Given the description of an element on the screen output the (x, y) to click on. 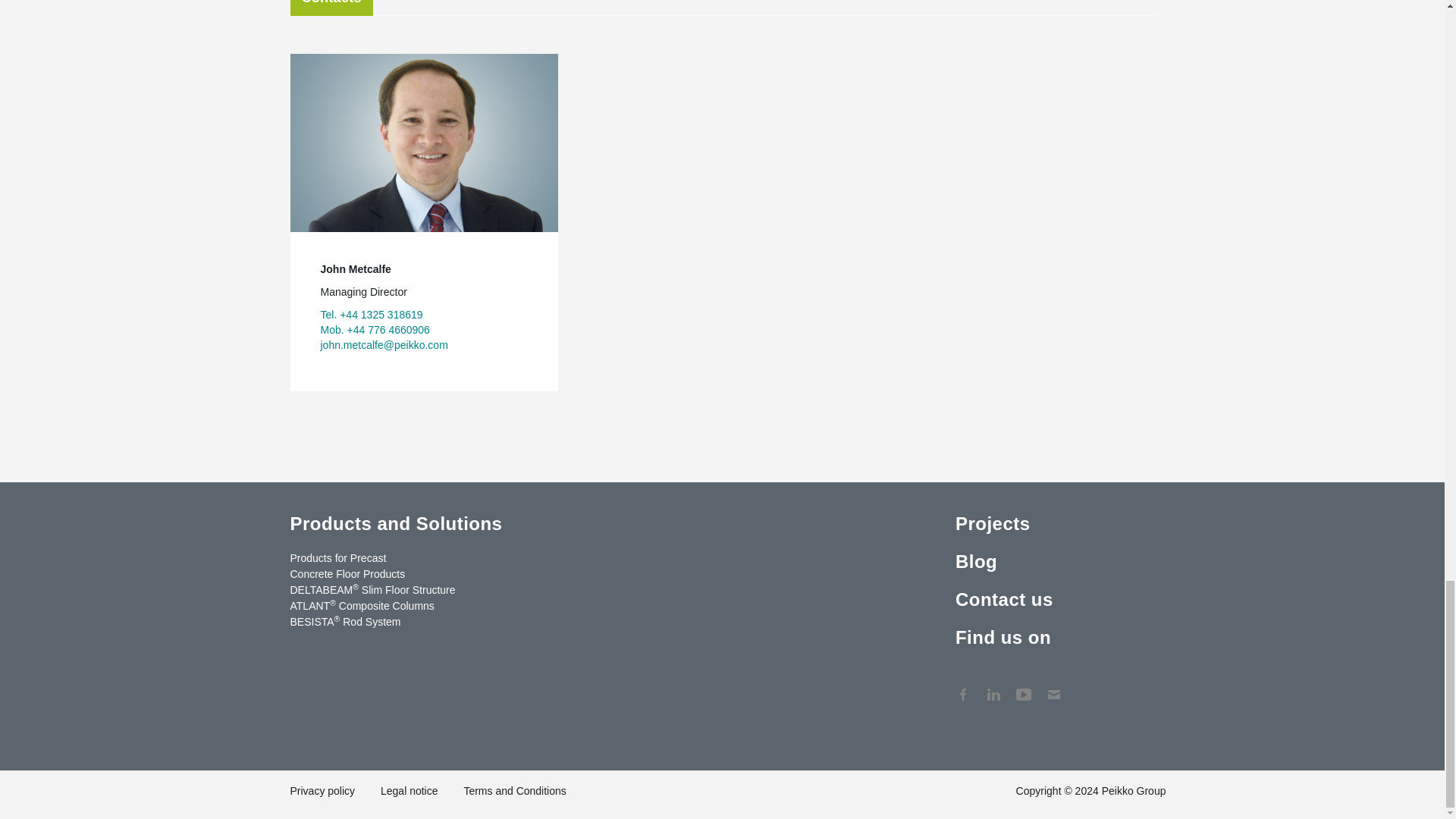
Facebook (963, 686)
LinkedIn (993, 686)
YouTube (1023, 686)
Contact Us (1053, 686)
